Given the description of an element on the screen output the (x, y) to click on. 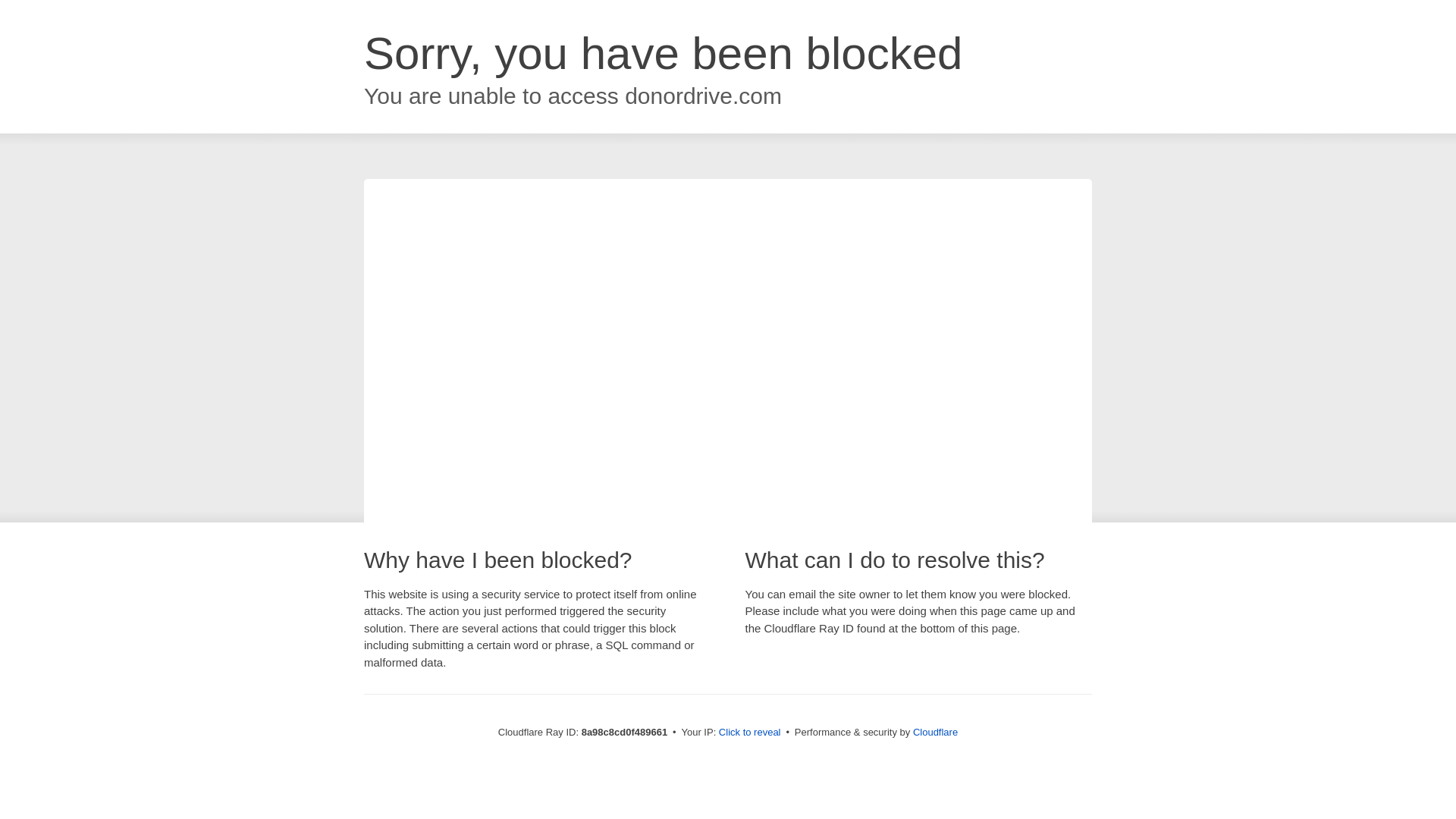
Cloudflare (935, 731)
Click to reveal (749, 732)
